Given the description of an element on the screen output the (x, y) to click on. 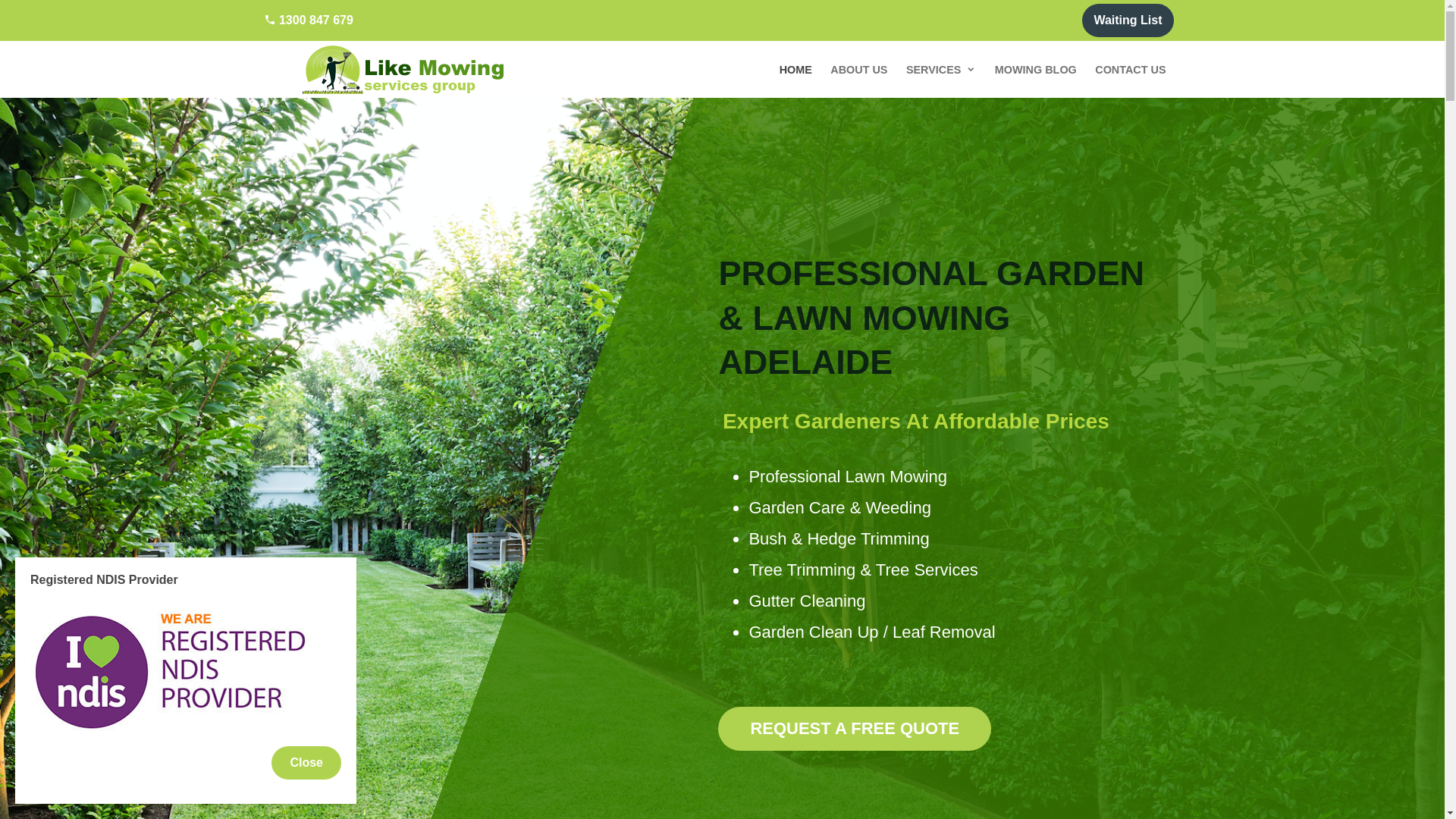
REQUEST A FREE QUOTE Element type: text (854, 728)
Close Element type: text (306, 762)
MOWING BLOG Element type: text (1035, 68)
1300 847 679 Element type: text (308, 20)
CONTACT US Element type: text (1130, 68)
ABOUT US Element type: text (858, 68)
SERVICES Element type: text (941, 68)
Waiting List Element type: text (1127, 20)
HOME Element type: text (795, 68)
